Given the description of an element on the screen output the (x, y) to click on. 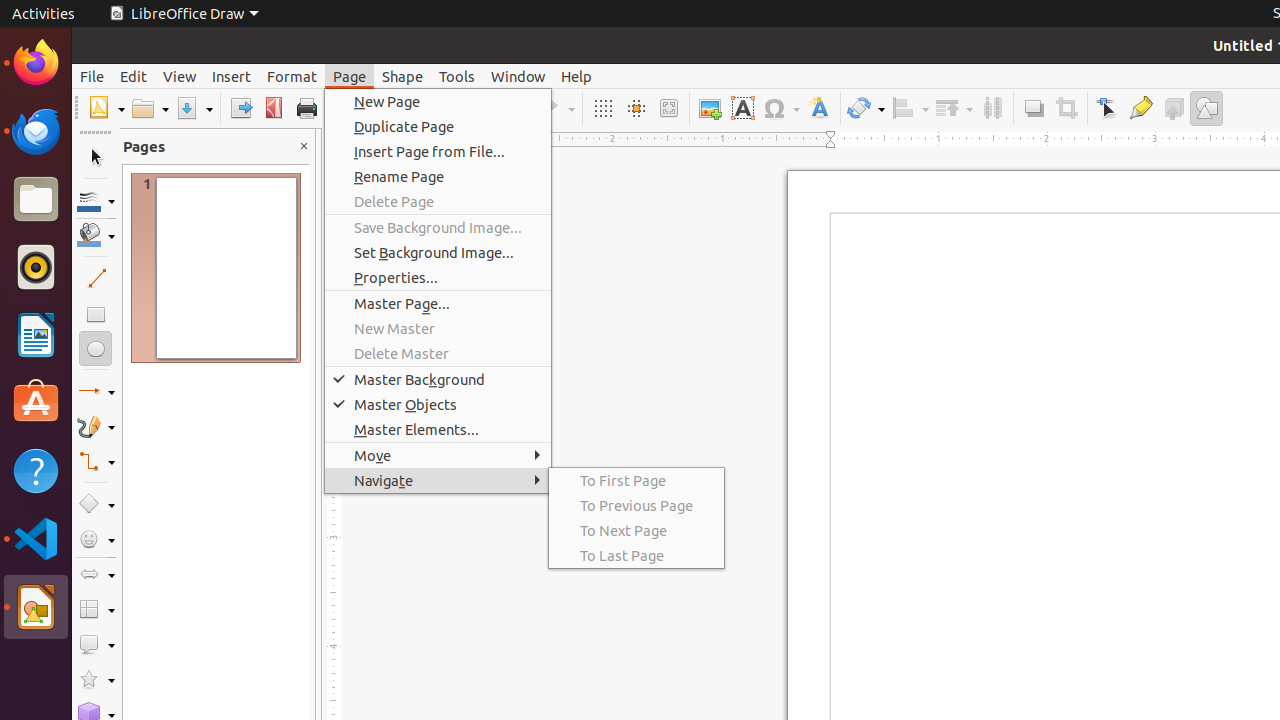
PDF Element type: push-button (273, 108)
Duplicate Page Element type: menu-item (438, 126)
Save Background Image... Element type: menu-item (438, 227)
Format Element type: menu (292, 76)
Edit Element type: menu (133, 76)
